Given the description of an element on the screen output the (x, y) to click on. 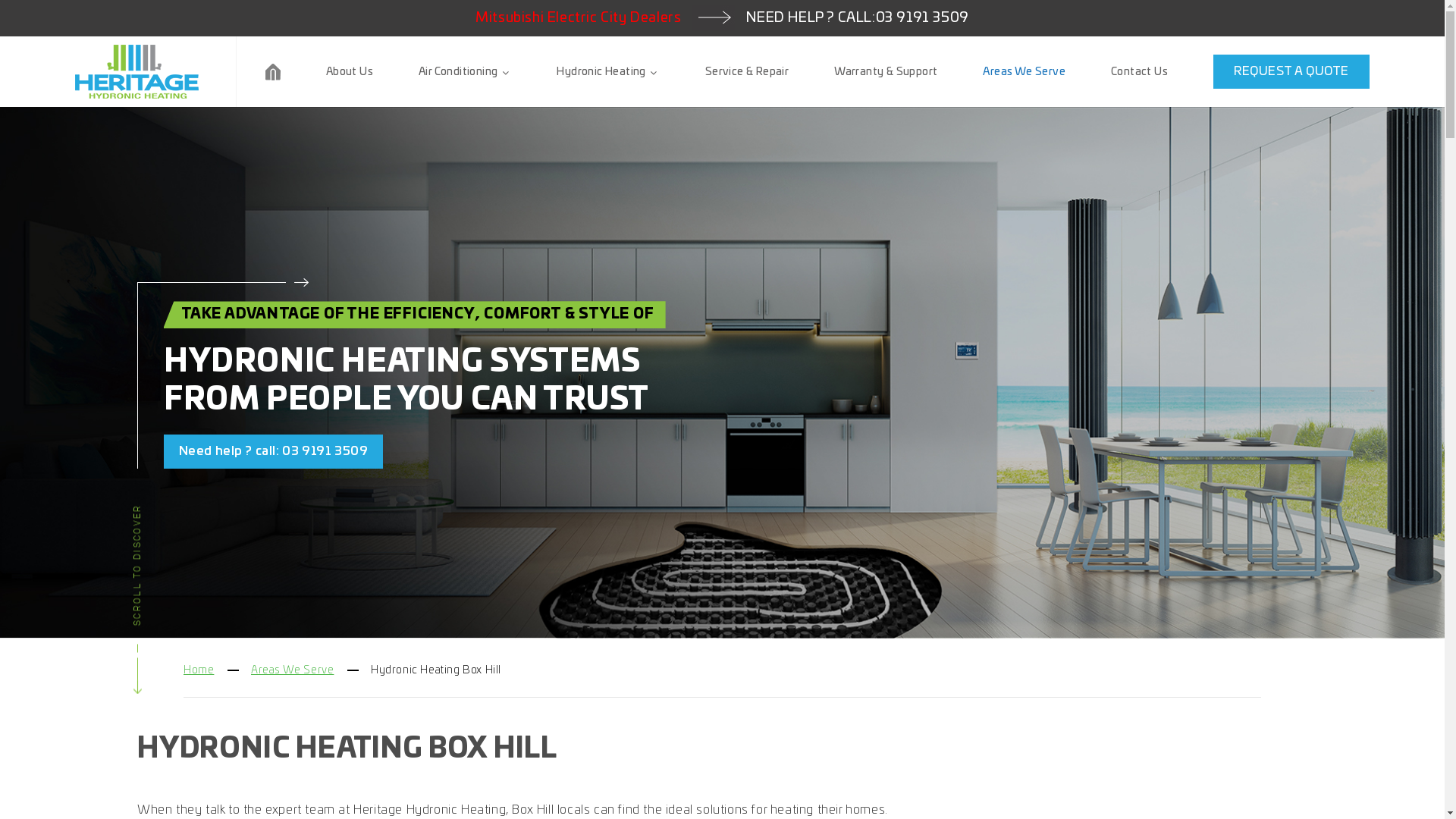
Areas We Serve Element type: text (1023, 71)
Areas We Serve Element type: text (292, 669)
03 9191 3509 Element type: text (922, 18)
Hydronic Heating Element type: text (607, 71)
Service & Repair Element type: text (746, 71)
Home Element type: text (198, 669)
About Us Element type: text (349, 71)
Air Conditioning Element type: text (464, 71)
Need help ? call: 03 9191 3509 Element type: text (272, 451)
Warranty & Support Element type: text (885, 71)
Contact Us Element type: text (1138, 71)
REQUEST A QUOTE Element type: text (1291, 71)
